Given the description of an element on the screen output the (x, y) to click on. 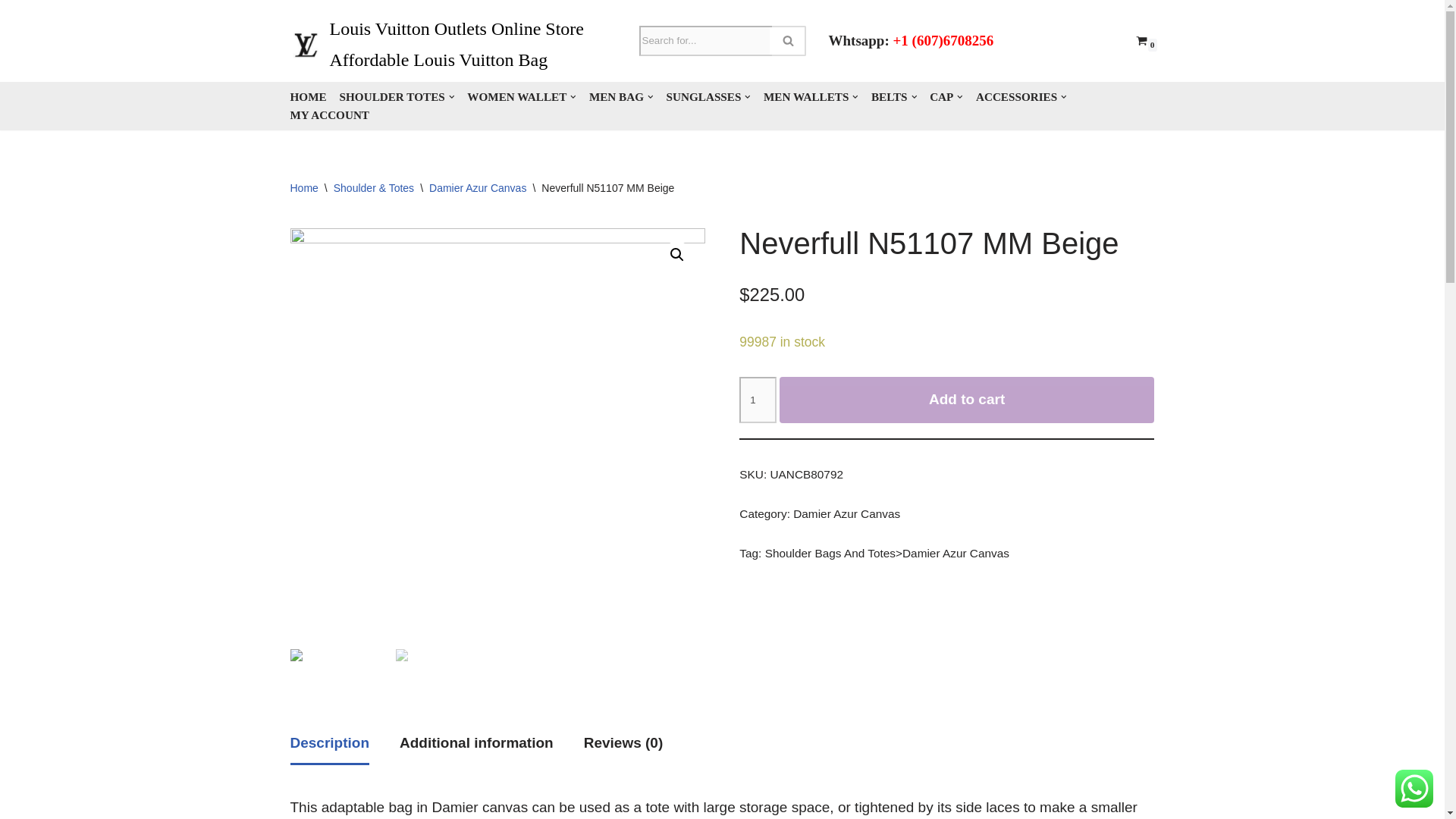
0 (1141, 40)
SUNGLASSES (708, 96)
HOME (307, 96)
MEN WALLETS (810, 96)
SHOULDER TOTES (396, 96)
BELTS (893, 96)
WOMEN WALLET (521, 96)
Skip to content (11, 31)
